Given the description of an element on the screen output the (x, y) to click on. 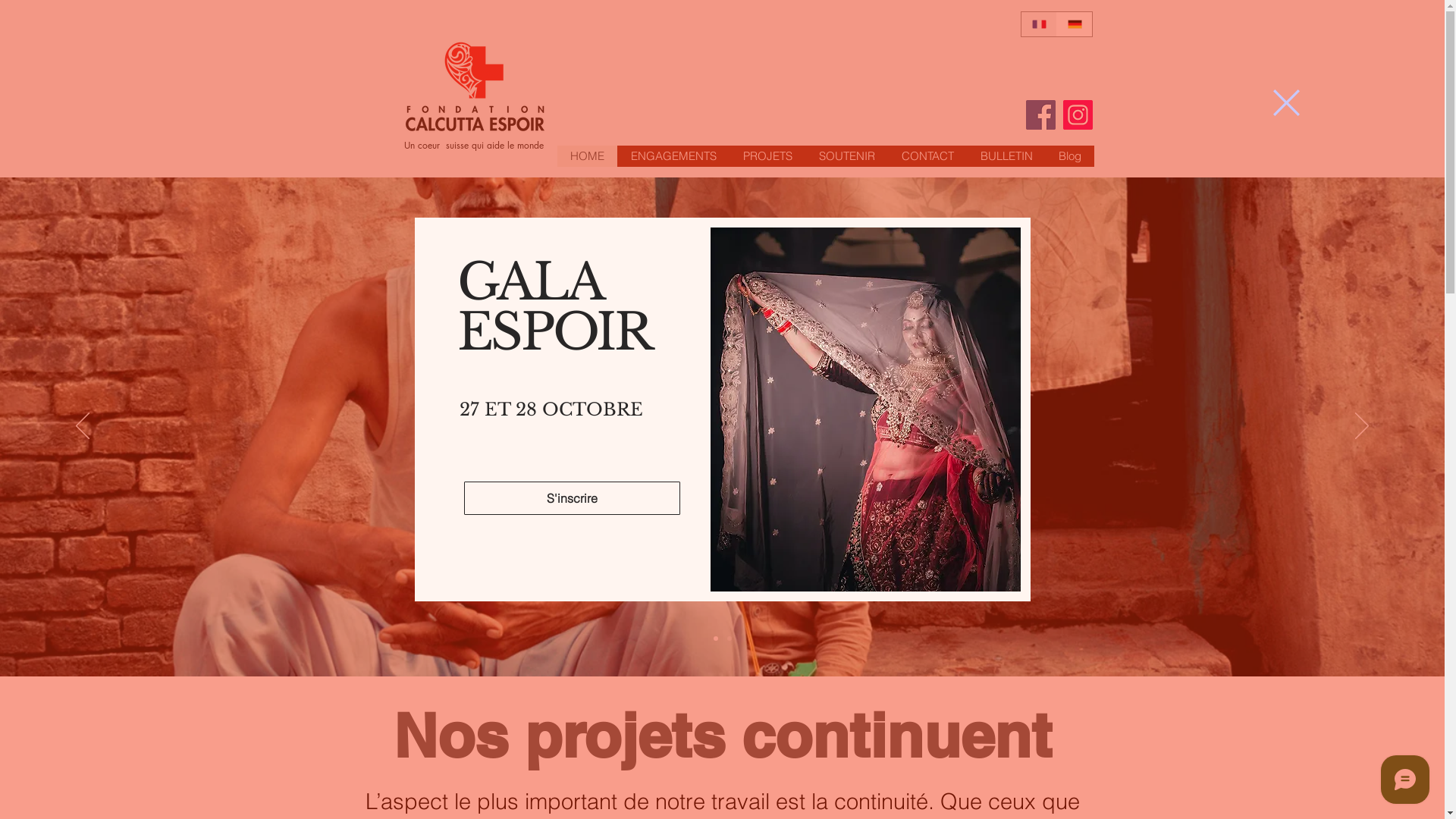
Retour au site Element type: hover (1285, 102)
ENGAGEMENTS Element type: text (673, 155)
ICI Element type: text (765, 512)
Blog Element type: text (1068, 155)
HOME Element type: text (586, 155)
S'inscrire Element type: text (572, 497)
BULLETIN Element type: text (1005, 155)
SOUTENIR Element type: text (846, 155)
PROJETS Element type: text (767, 155)
CONTACT Element type: text (926, 155)
